Given the description of an element on the screen output the (x, y) to click on. 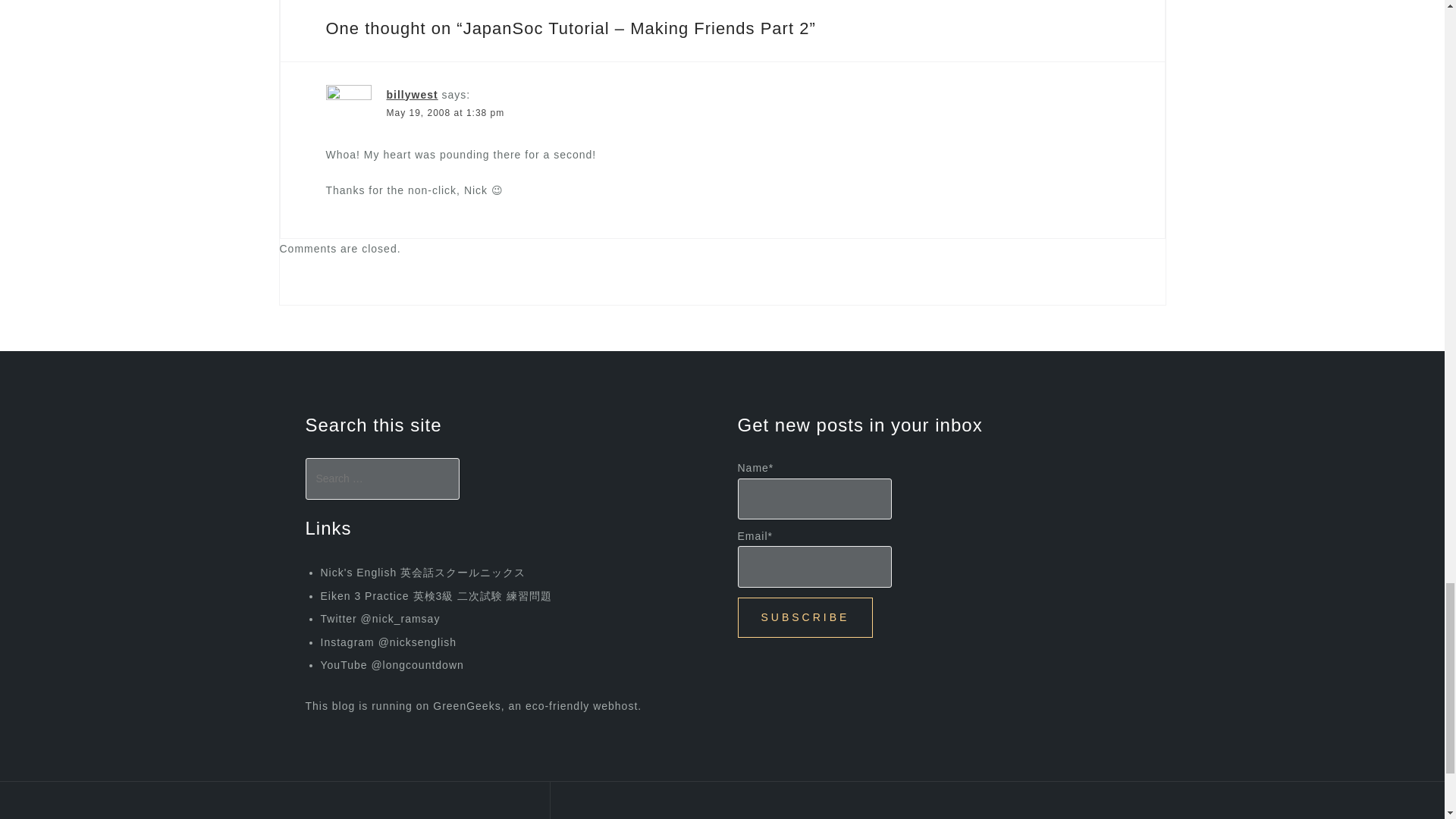
GreenGeeks (466, 705)
Follow me and my school on Instagram (388, 642)
Follow me on Twitter (379, 618)
My old YouTube channel (391, 664)
Subscribe (804, 617)
billywest (412, 94)
May 19, 2008 at 1:38 pm (446, 112)
Subscribe (804, 617)
